Given the description of an element on the screen output the (x, y) to click on. 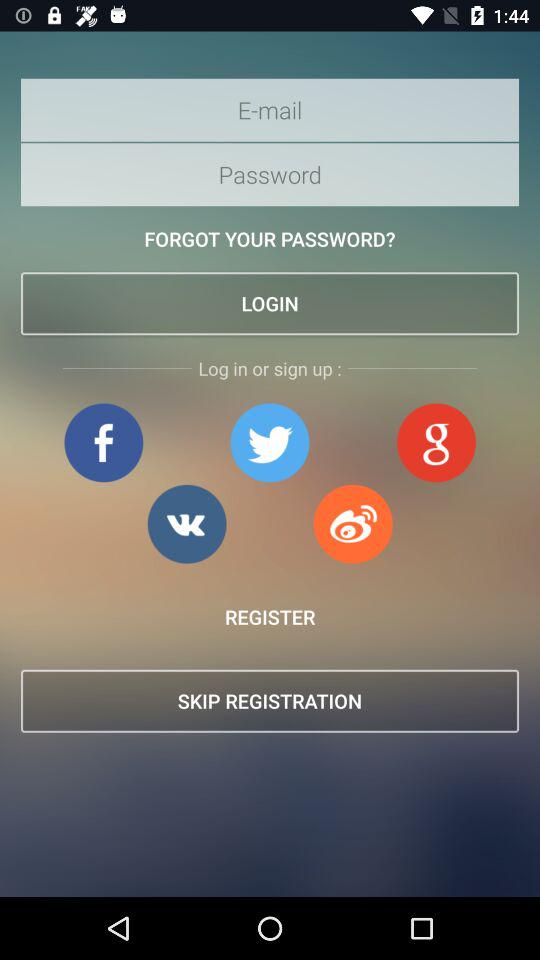
log thanks to twitter account (269, 442)
